Given the description of an element on the screen output the (x, y) to click on. 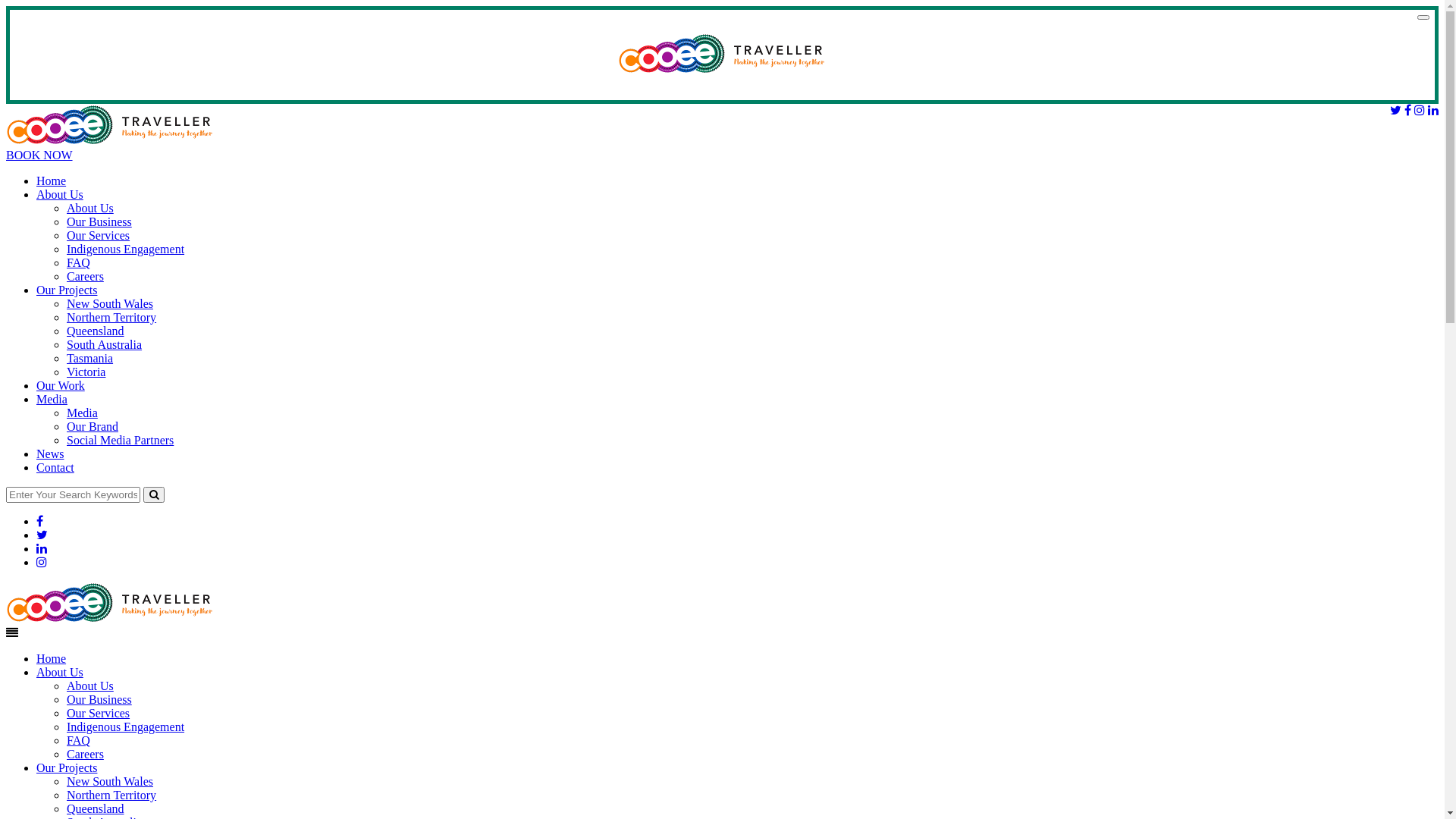
Our Work Element type: text (60, 385)
Our Business Element type: text (98, 221)
Queensland Element type: text (95, 808)
Home Element type: text (50, 658)
New South Wales Element type: text (109, 781)
Northern Territory Element type: text (111, 316)
FAQ Element type: text (78, 262)
Our Brand Element type: text (92, 426)
Northern Territory Element type: text (111, 794)
Victoria Element type: text (85, 371)
About Us Element type: text (59, 194)
Our Projects Element type: text (66, 289)
Indigenous Engagement Element type: text (125, 248)
Tasmania Element type: text (89, 357)
About Us Element type: text (89, 685)
Careers Element type: text (84, 753)
Queensland Element type: text (95, 330)
Our Services Element type: text (97, 712)
Our Services Element type: text (97, 235)
Indigenous Engagement Element type: text (125, 726)
Media Element type: text (81, 412)
BOOK NOW Element type: text (39, 154)
Media Element type: text (51, 398)
New South Wales Element type: text (109, 303)
Our Projects Element type: text (66, 767)
Careers Element type: text (84, 275)
FAQ Element type: text (78, 740)
Contact Element type: text (55, 467)
News Element type: text (49, 453)
Social Media Partners Element type: text (119, 439)
About Us Element type: text (89, 207)
South Australia Element type: text (103, 344)
Home Element type: text (50, 180)
Our Business Element type: text (98, 699)
About Us Element type: text (59, 671)
